Given the description of an element on the screen output the (x, y) to click on. 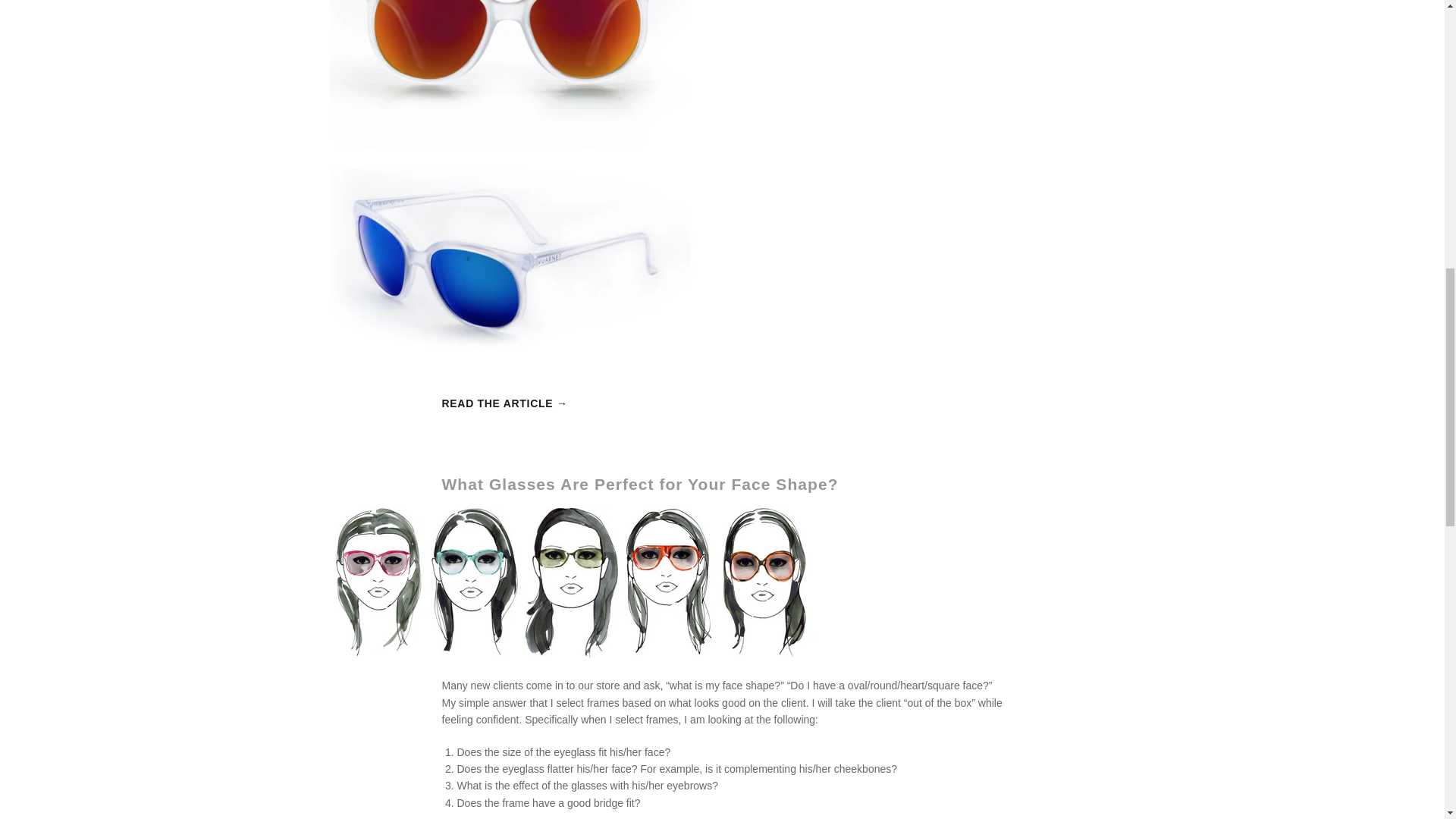
What Glasses Are Perfect for Your Face Shape? (639, 484)
